Given the description of an element on the screen output the (x, y) to click on. 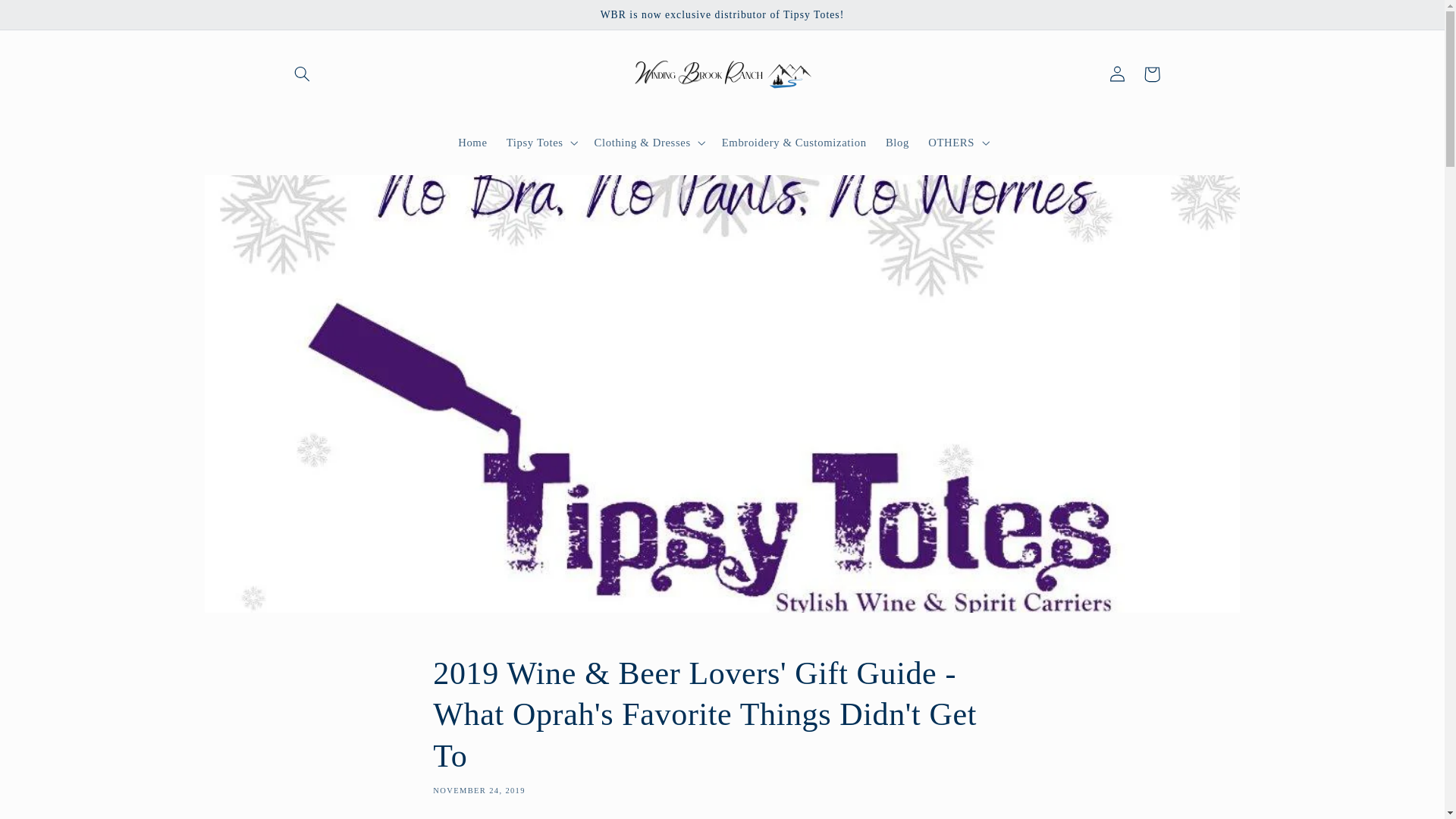
Skip to content (48, 18)
Home (472, 142)
Blog (897, 142)
